Given the description of an element on the screen output the (x, y) to click on. 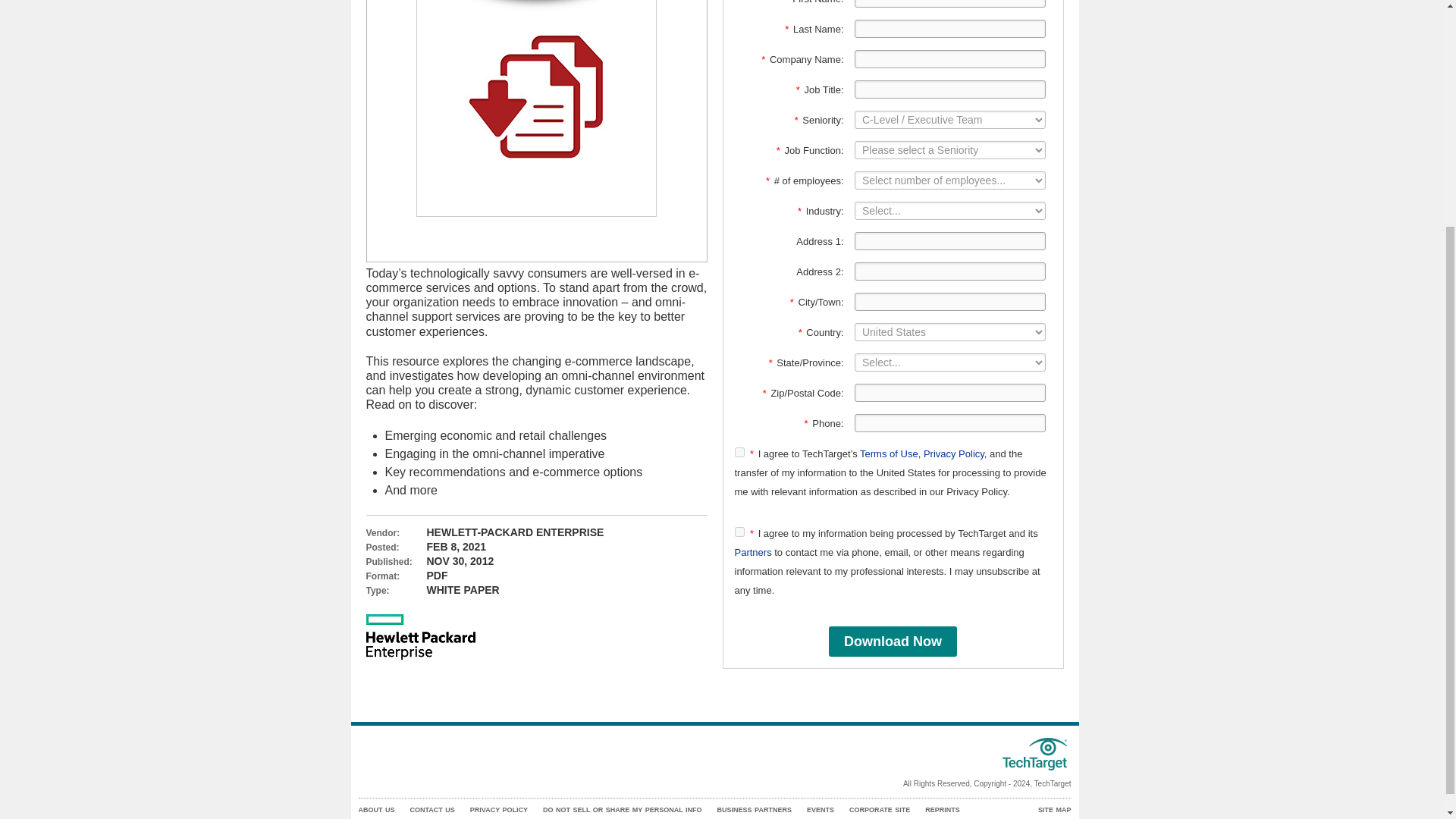
REPRINTS (941, 809)
SITE MAP (1054, 809)
DO NOT SELL OR SHARE MY PERSONAL INFO (622, 809)
EVENTS (820, 809)
Terms of Use (889, 453)
Download Now (892, 641)
true (738, 532)
PRIVACY POLICY (498, 809)
ABOUT US (376, 809)
Download Now (892, 641)
